Given the description of an element on the screen output the (x, y) to click on. 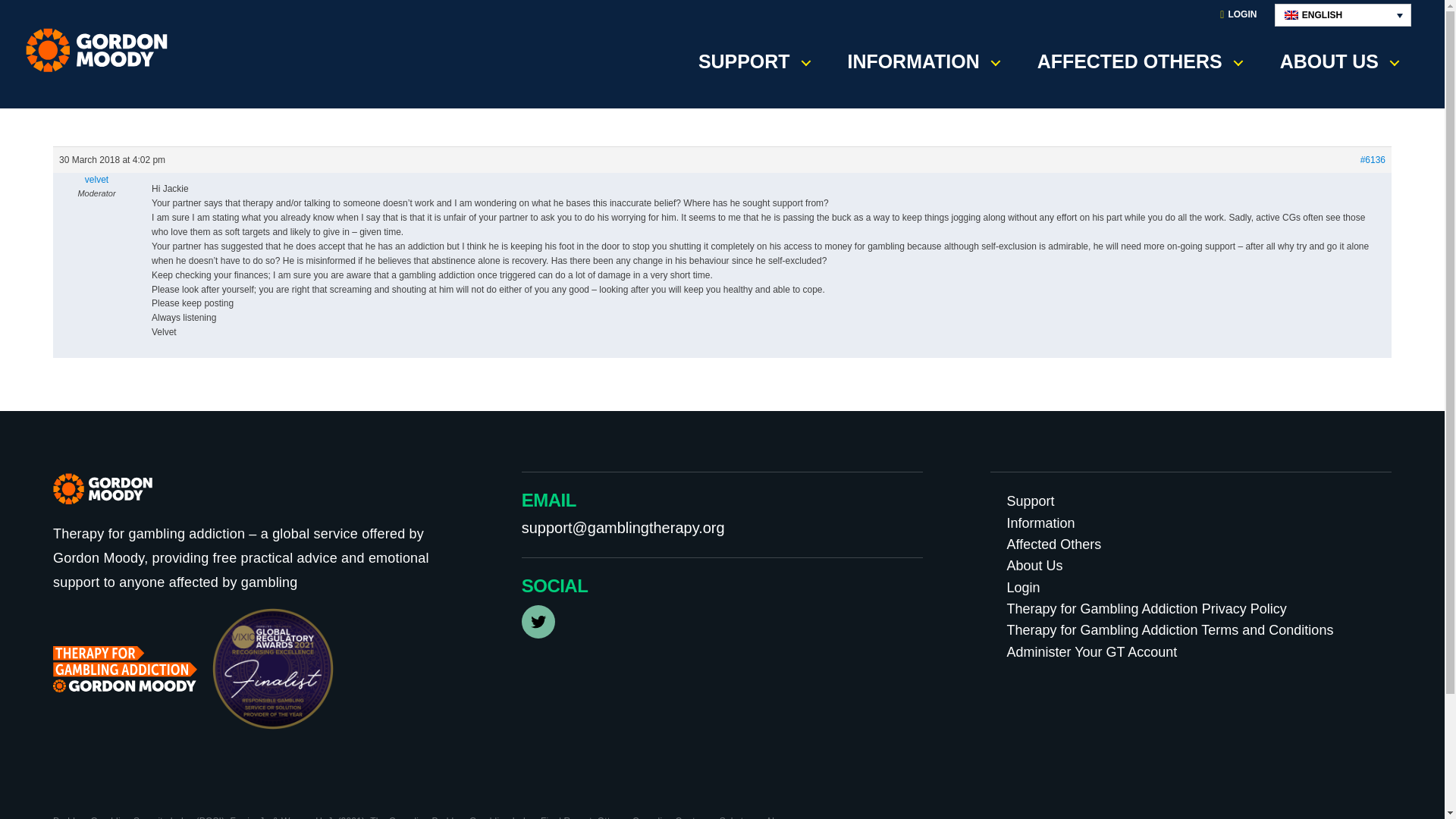
ENGLISH (1342, 15)
View velvet's profile (95, 179)
LOGIN (1238, 15)
Gordon Moody (101, 50)
